Given the description of an element on the screen output the (x, y) to click on. 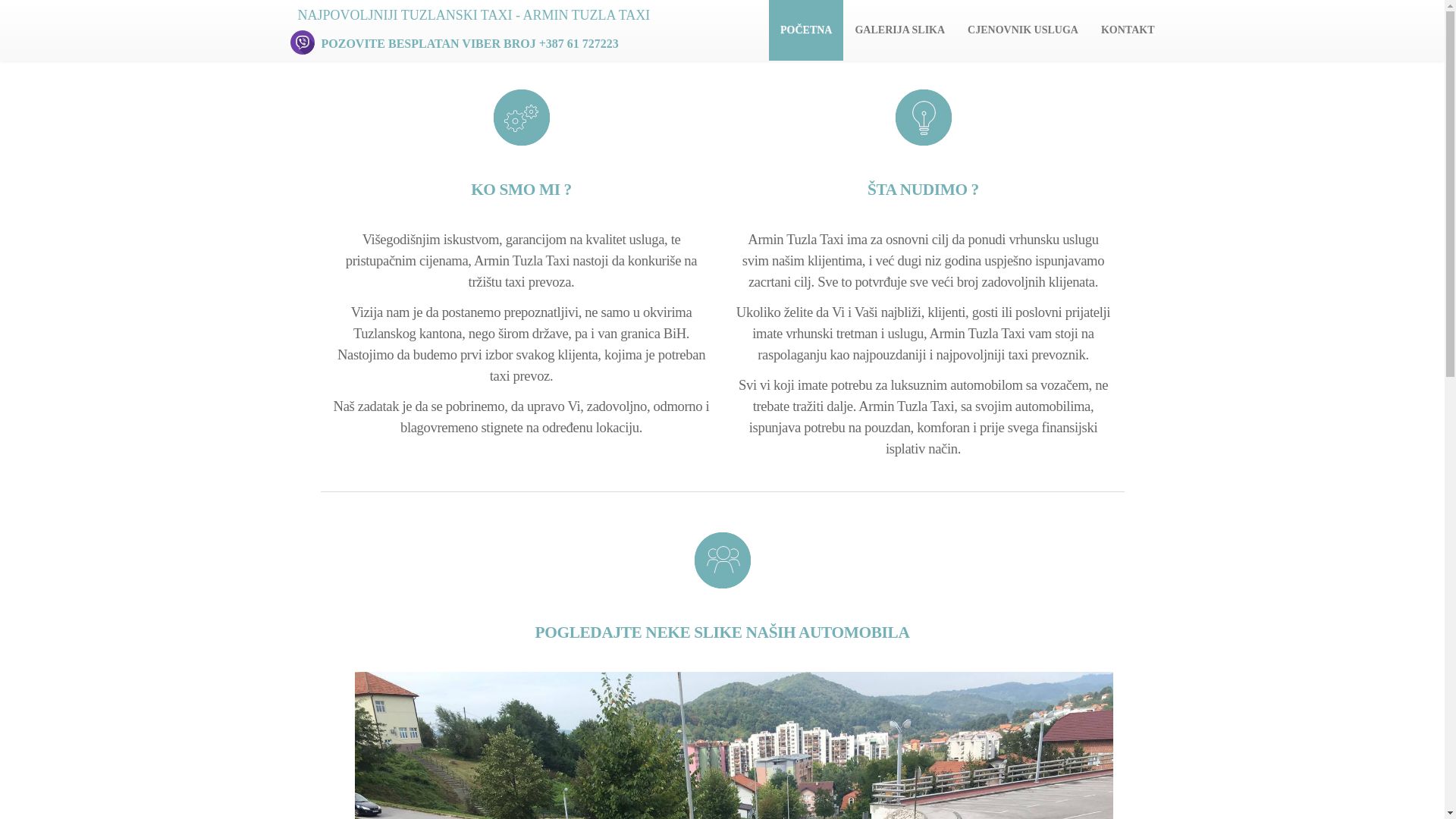
KONTAKT Element type: text (1127, 30)
CJENOVNIK USLUGA Element type: text (1022, 30)
NAJPOVOLJNIJI TUZLANSKI TAXI - ARMIN TUZLA TAXI Element type: text (473, 15)
GALERIJA SLIKA Element type: text (899, 30)
